Given the description of an element on the screen output the (x, y) to click on. 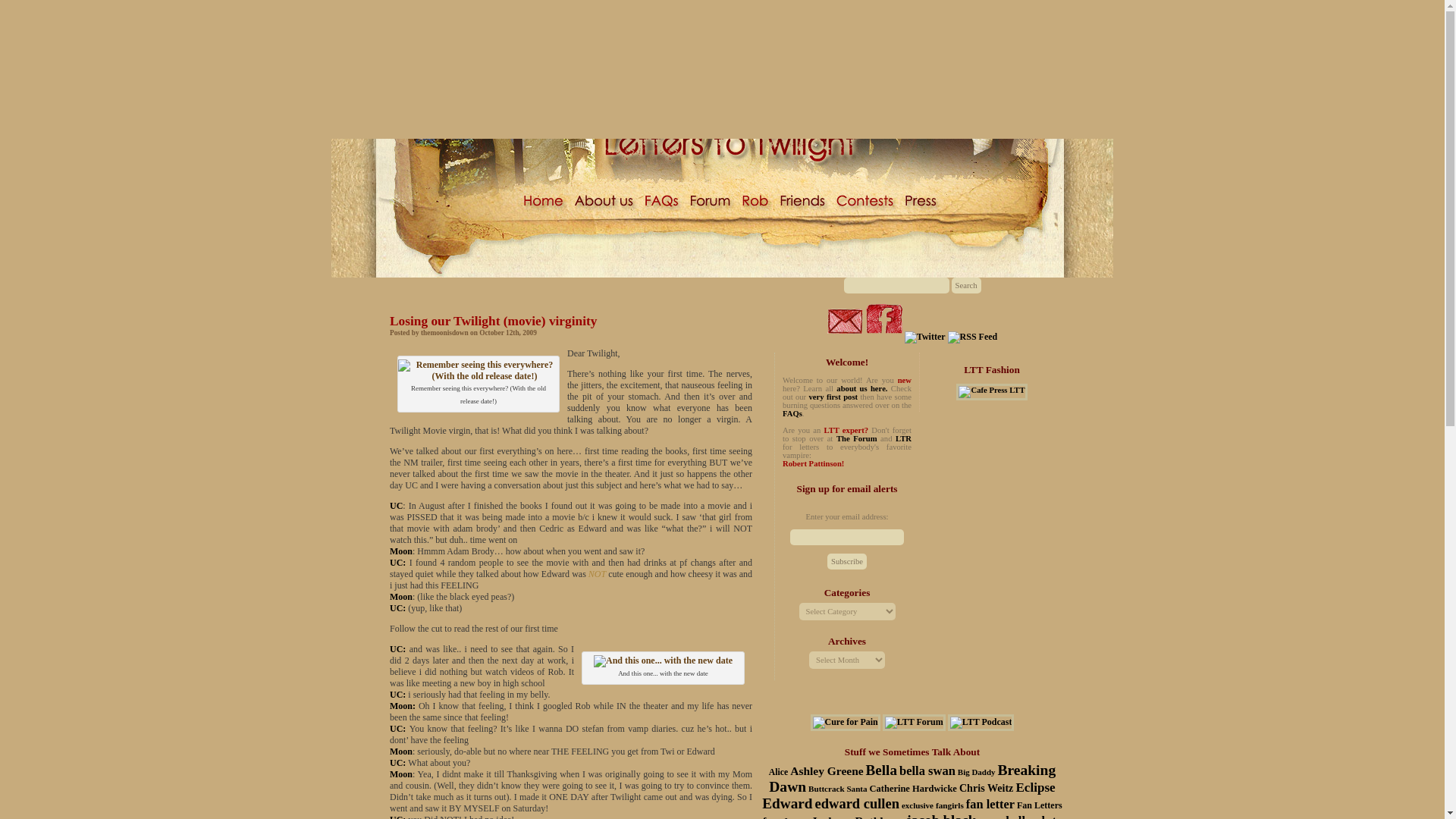
Subscribe to Posts (972, 337)
Search (964, 285)
Facebook. Let's DO this! (884, 321)
FAQs (792, 413)
moviepostertwi (478, 370)
LTT Forum (913, 721)
about us here. (860, 388)
very first post (832, 397)
We love to tweet! (924, 337)
Subscribe (846, 561)
